Given the description of an element on the screen output the (x, y) to click on. 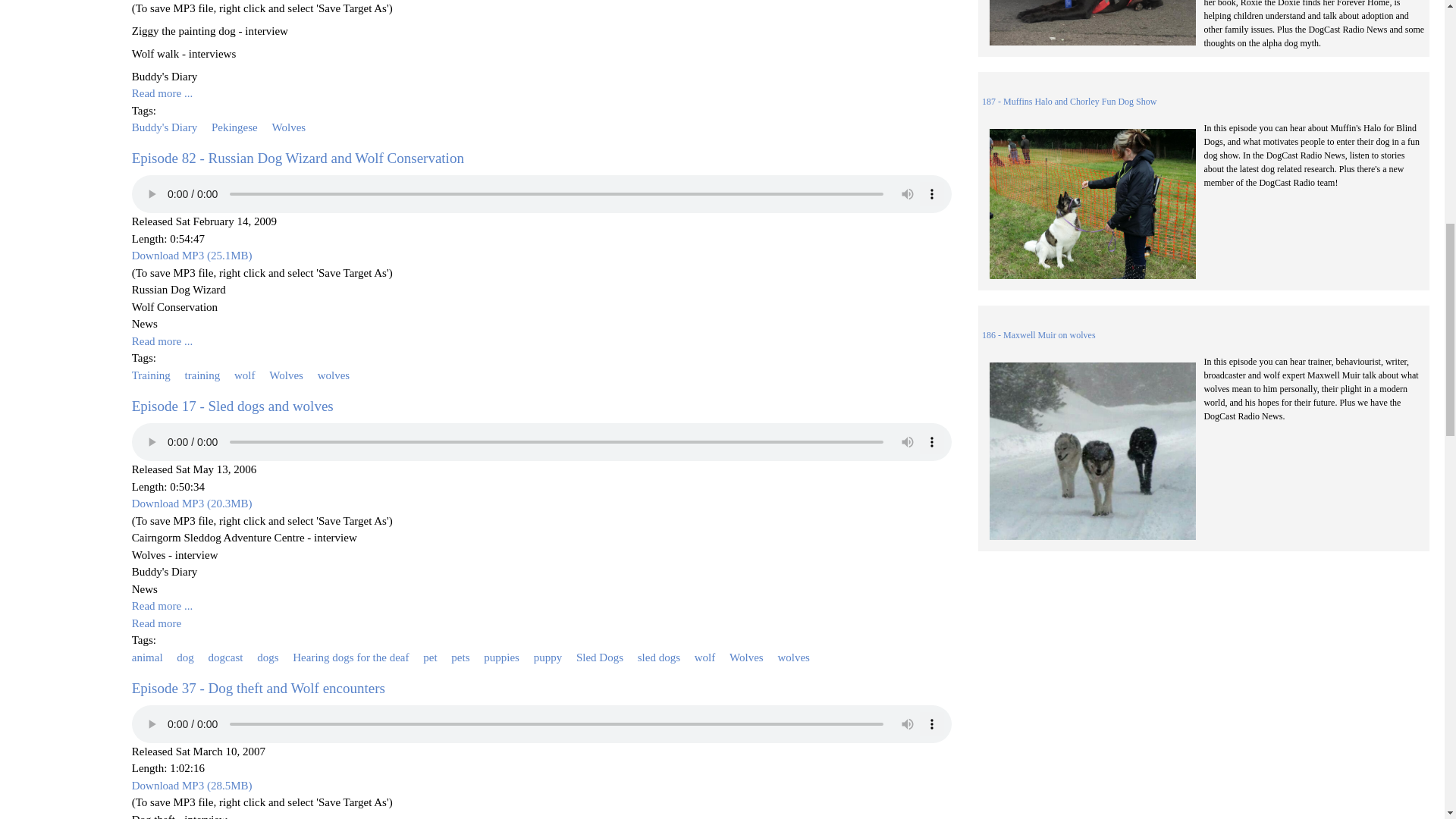
Training (151, 375)
Read more ... (162, 92)
Episode 82 - Russian Dog Wizard and Wolf Conservation (298, 157)
Read more ... (162, 340)
Wolves (288, 127)
training (202, 375)
wolf (245, 375)
Read the rest of this posting. (156, 623)
Buddy's Diary (164, 127)
Pekingese (234, 127)
Wolves (285, 375)
